Given the description of an element on the screen output the (x, y) to click on. 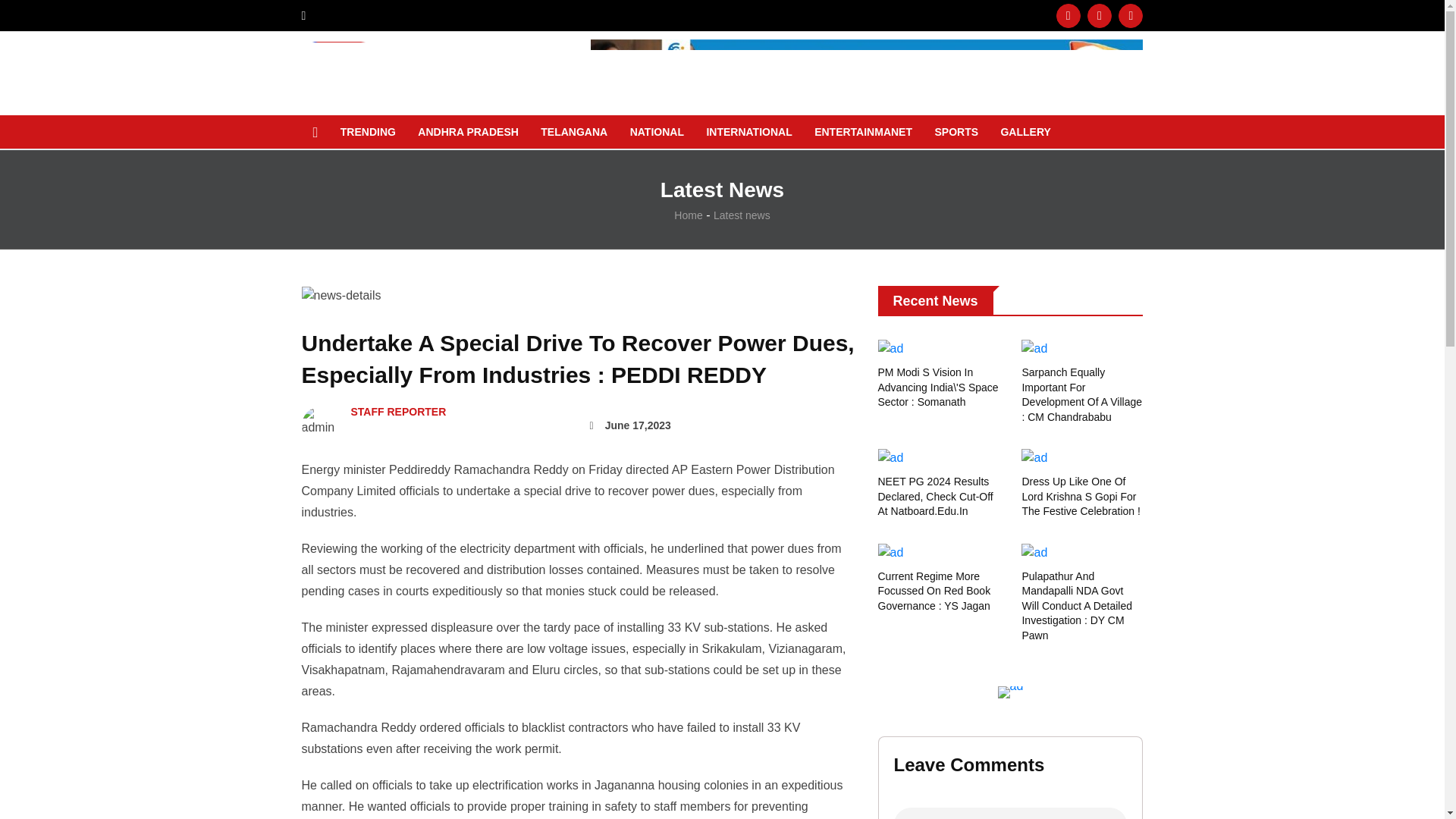
TRENDING (368, 131)
SPORTS (956, 131)
ENTERTAINMANET (863, 131)
GALLERY (1024, 131)
TELANGANA (573, 131)
INTERNATIONAL (748, 131)
NATIONAL (656, 131)
ANDHRA PRADESH (467, 131)
